Given the description of an element on the screen output the (x, y) to click on. 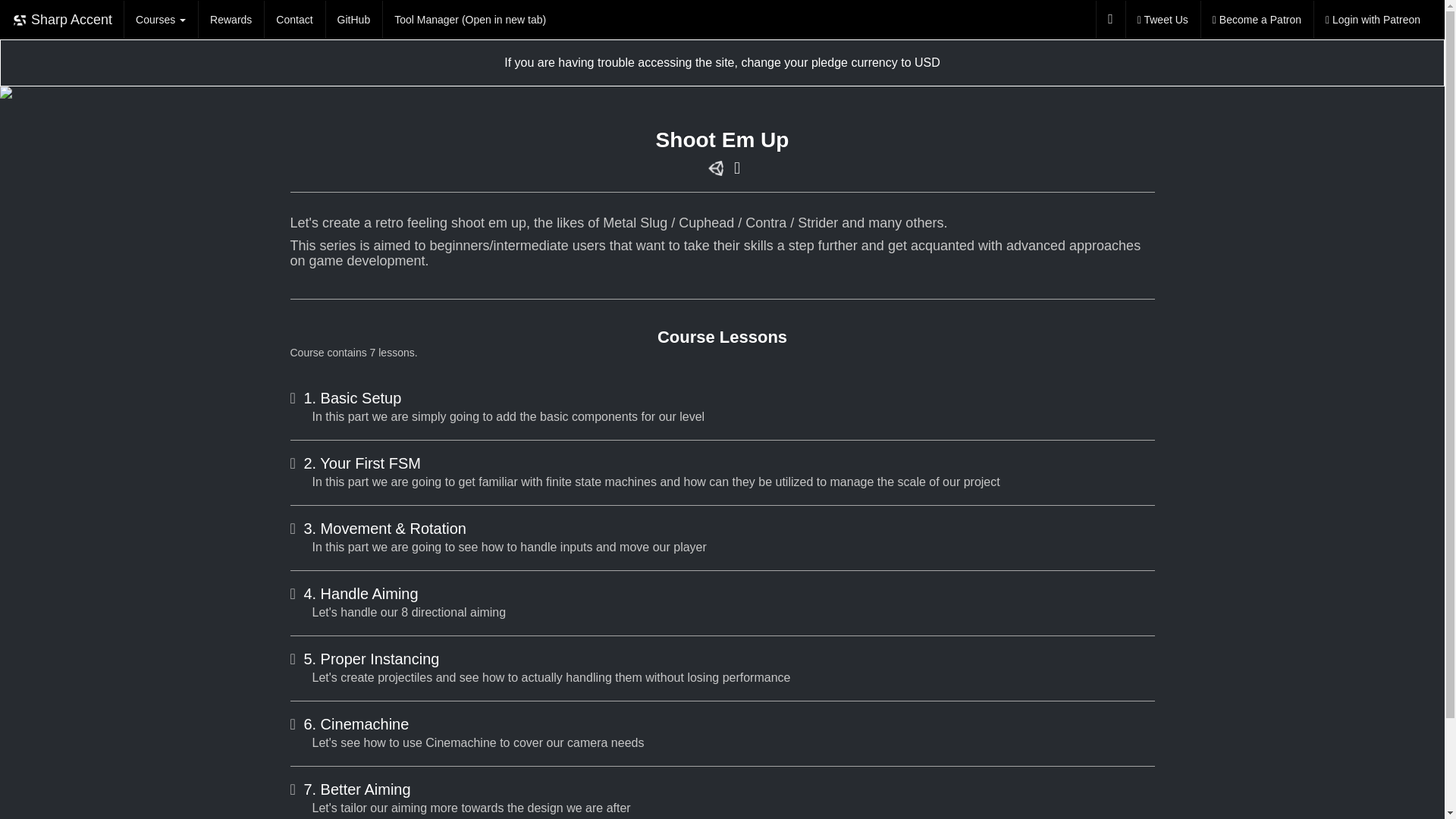
GitHub (353, 19)
Rewards (230, 19)
This course uses Unity (715, 168)
Courses (160, 19)
Sharp Accent (62, 19)
Contact (293, 19)
